Given the description of an element on the screen output the (x, y) to click on. 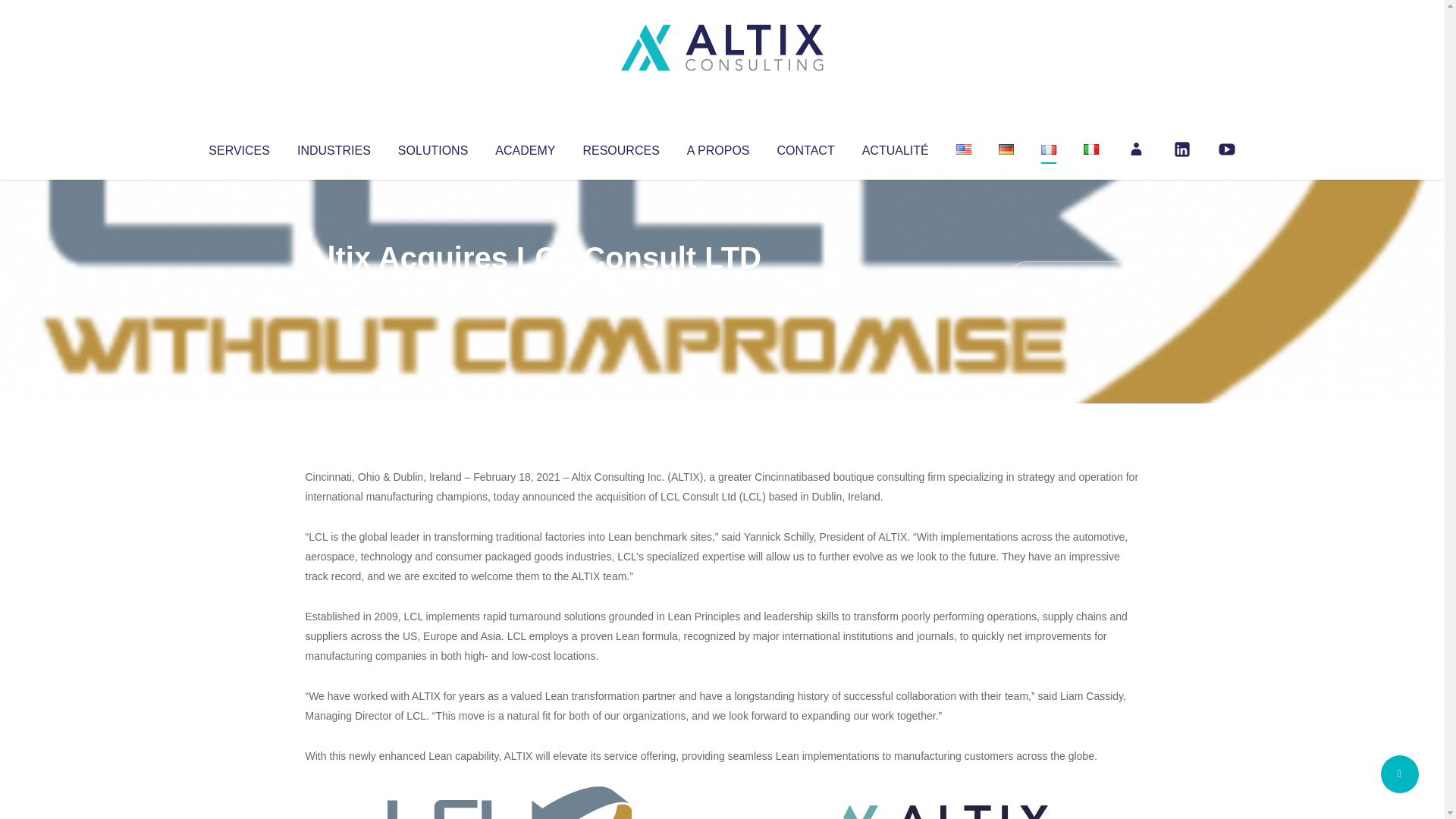
ACADEMY (524, 146)
Uncategorized (530, 287)
SERVICES (238, 146)
SOLUTIONS (432, 146)
Articles par Altix (333, 287)
No Comments (1073, 278)
RESOURCES (620, 146)
INDUSTRIES (334, 146)
A PROPOS (718, 146)
Altix (333, 287)
